Given the description of an element on the screen output the (x, y) to click on. 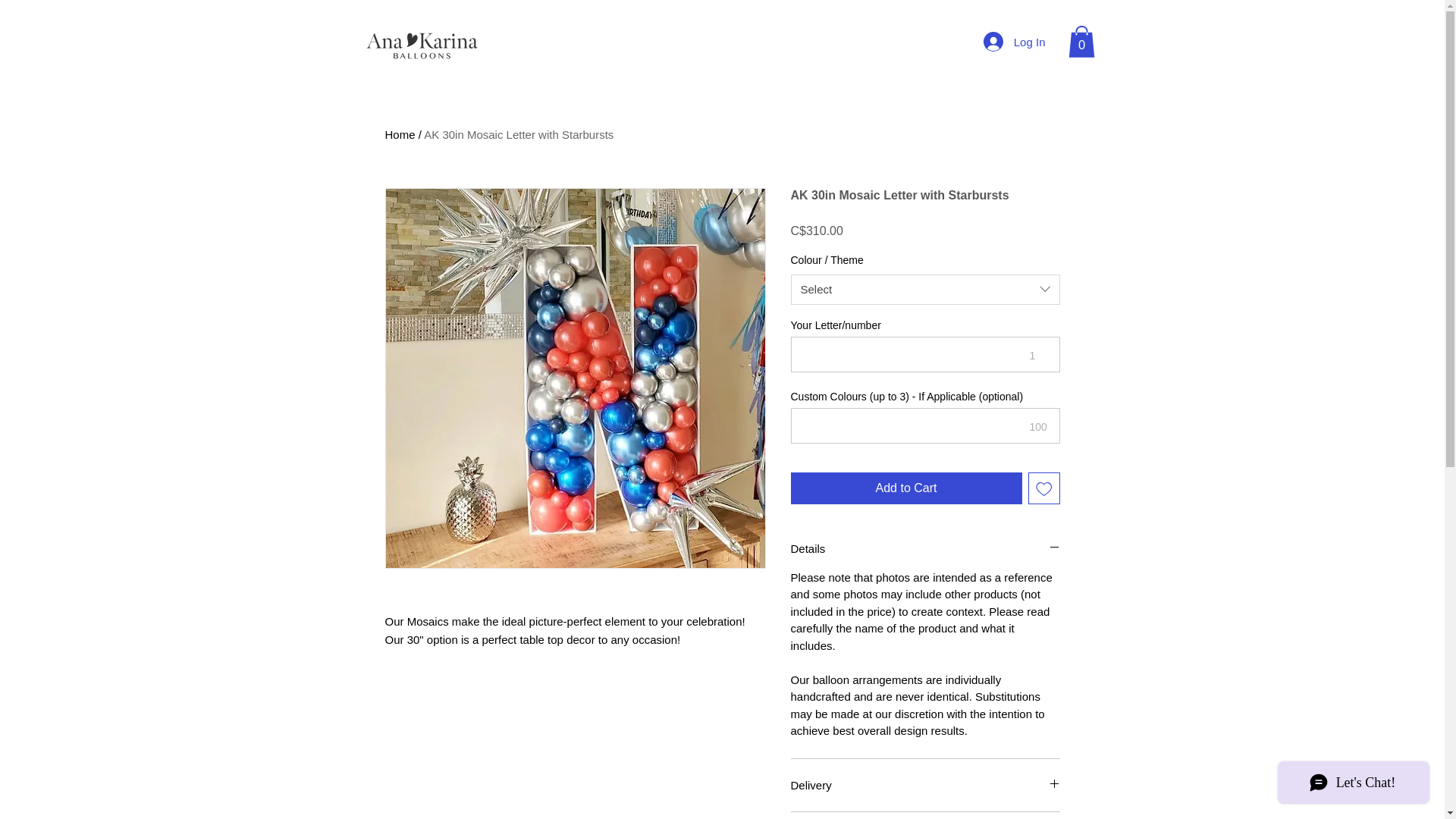
Home (399, 133)
Select (924, 289)
AK 30in Mosaic Letter with Starbursts (517, 133)
Log In (1014, 41)
Add to Cart (906, 488)
Delivery (924, 785)
Details (924, 548)
